Given the description of an element on the screen output the (x, y) to click on. 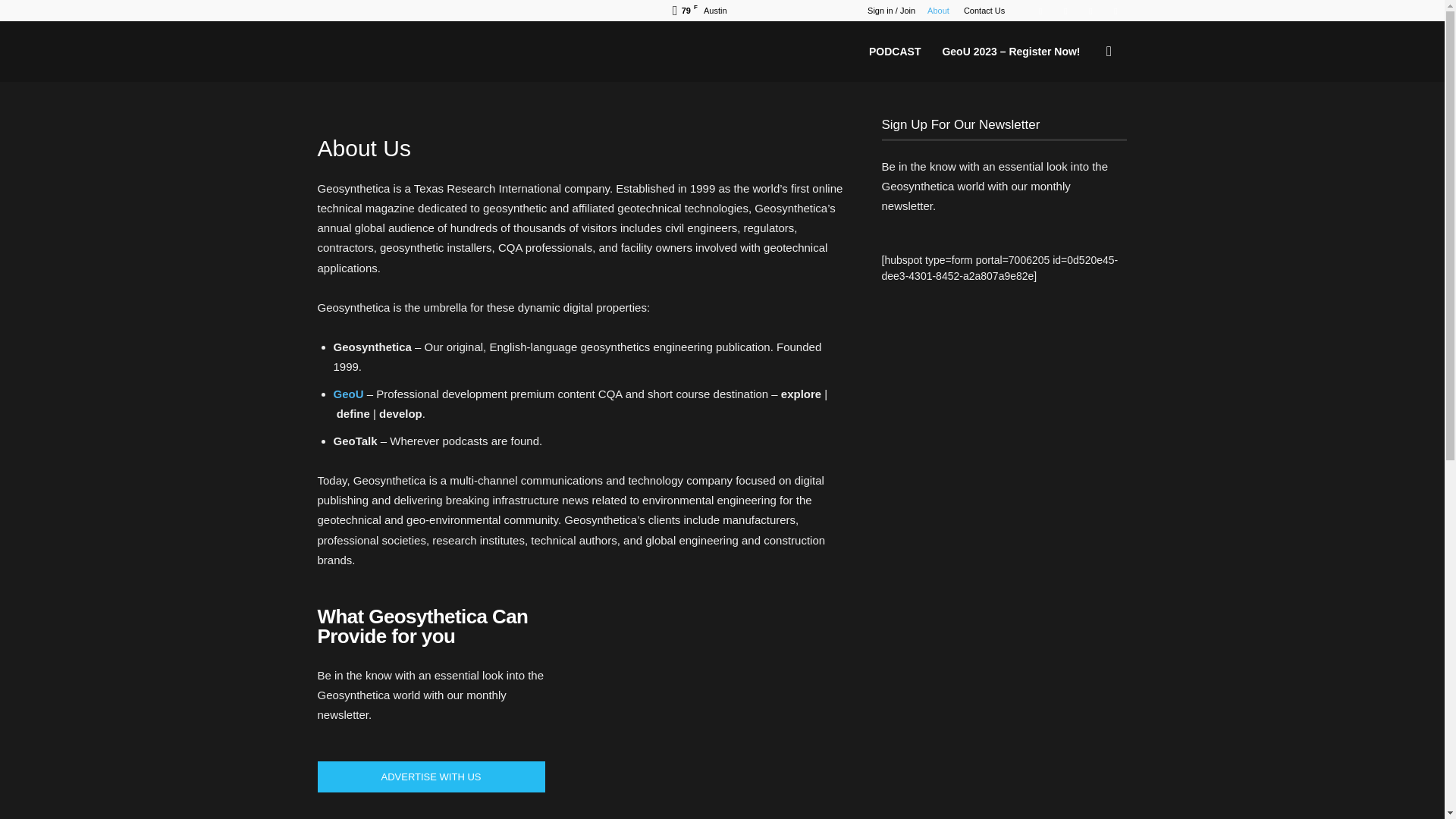
ADVERTISE WITH US (430, 776)
Facebook (1040, 10)
Search (1083, 125)
Youtube (1114, 10)
Contact Us (983, 10)
ADVERTISE WITH US (430, 776)
Linkedin (1065, 10)
About (938, 10)
Twitter (1090, 10)
PODCAST (895, 51)
